Given the description of an element on the screen output the (x, y) to click on. 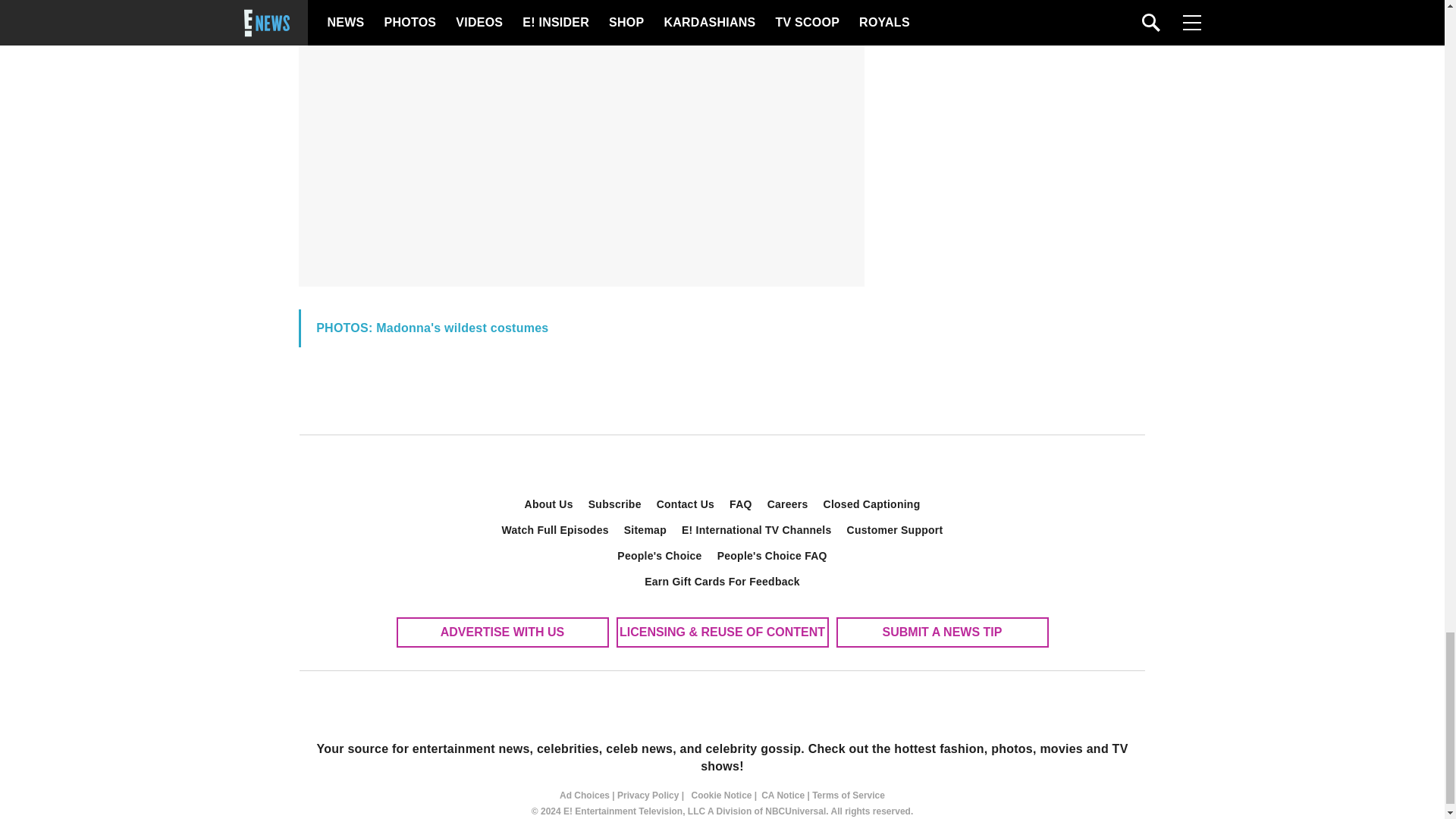
Careers (787, 503)
Contact Us (685, 503)
Subscribe (614, 503)
PHOTOS: Madonna's wildest costumes (431, 327)
Sitemap (644, 529)
FAQ (741, 503)
Watch Full Episodes (555, 529)
About Us (548, 503)
Closed Captioning (871, 503)
